Given the description of an element on the screen output the (x, y) to click on. 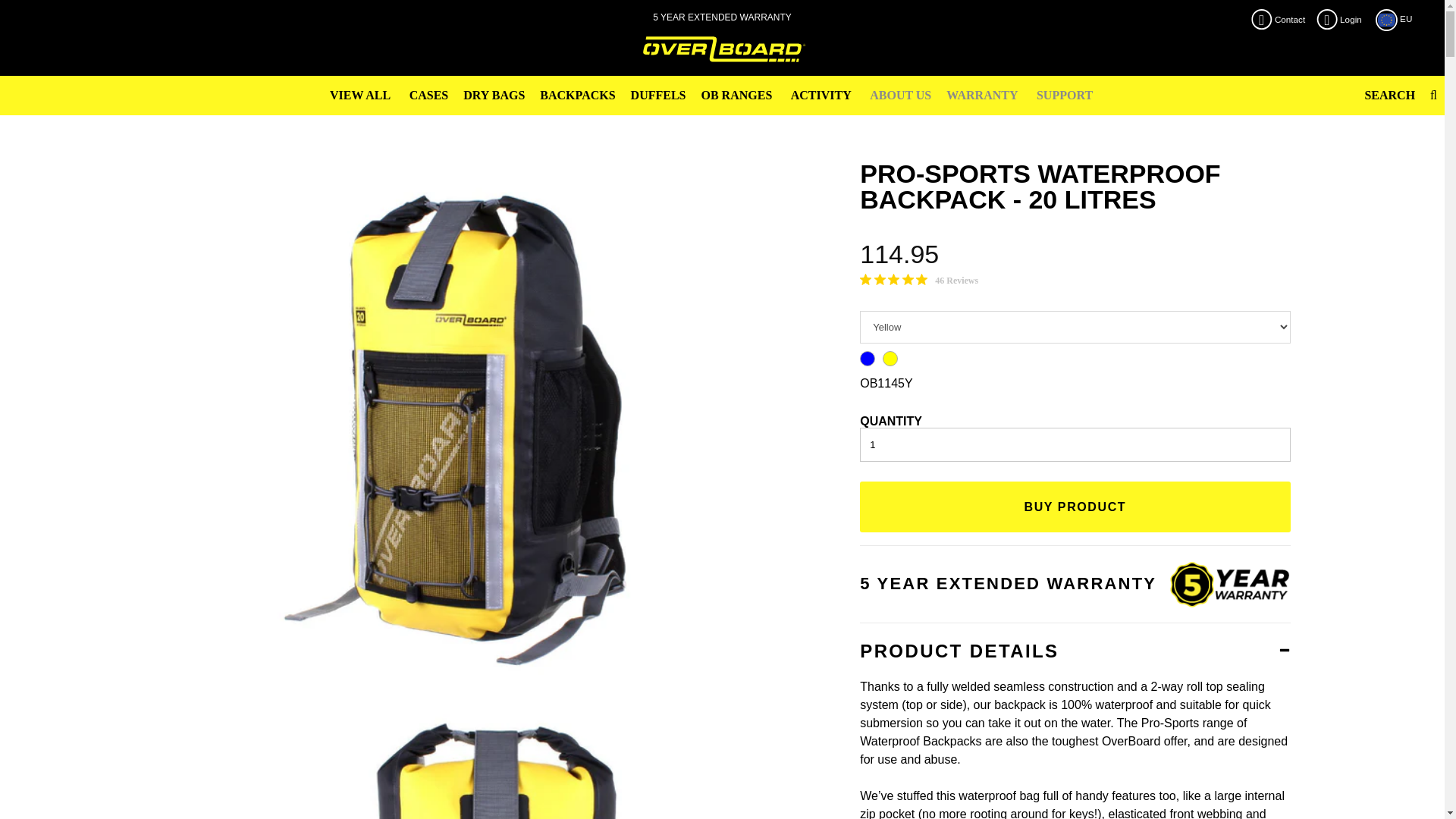
BACKPACKS (577, 95)
VIEW ALL (359, 95)
Contact (1281, 20)
46 Reviews (919, 280)
DRY BAGS (493, 95)
Yellow (890, 358)
Blue (867, 358)
Login (1342, 20)
1 (1075, 444)
CASES (429, 95)
